Given the description of an element on the screen output the (x, y) to click on. 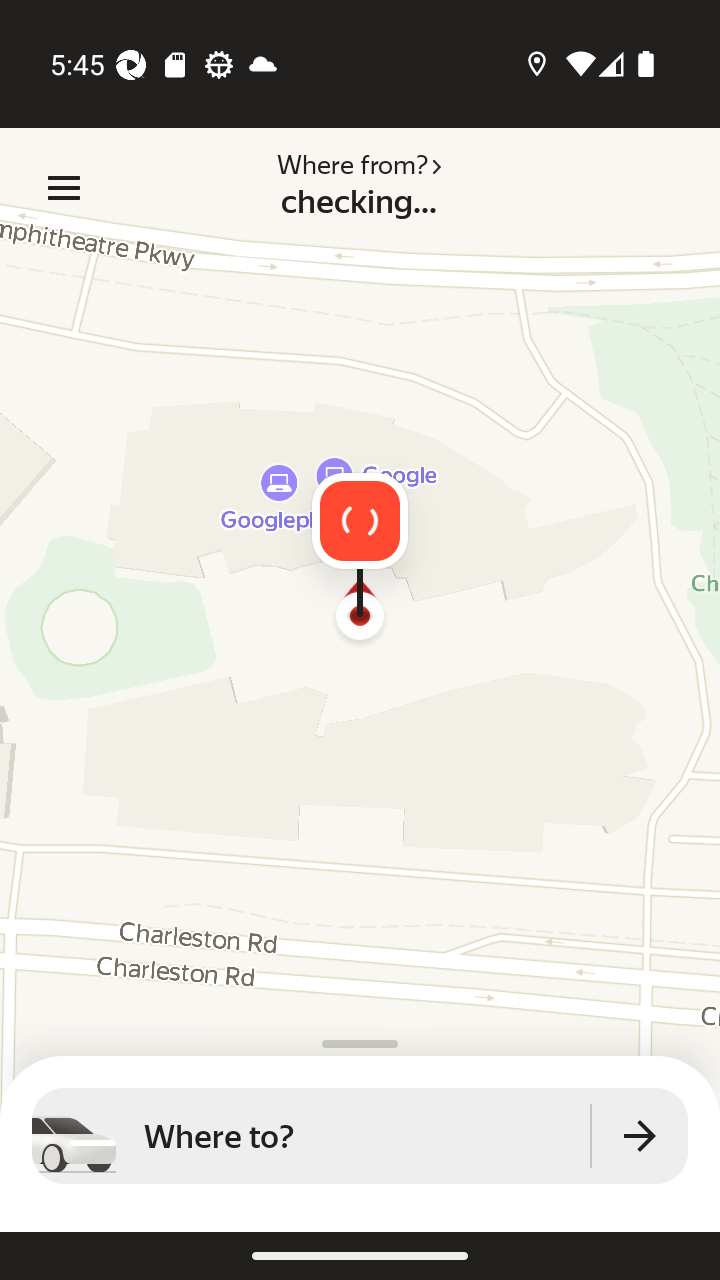
Menu Menu Menu (64, 188)
Where to? Where to? To the choice of address (359, 1136)
To the choice of address (639, 1136)
